Given the description of an element on the screen output the (x, y) to click on. 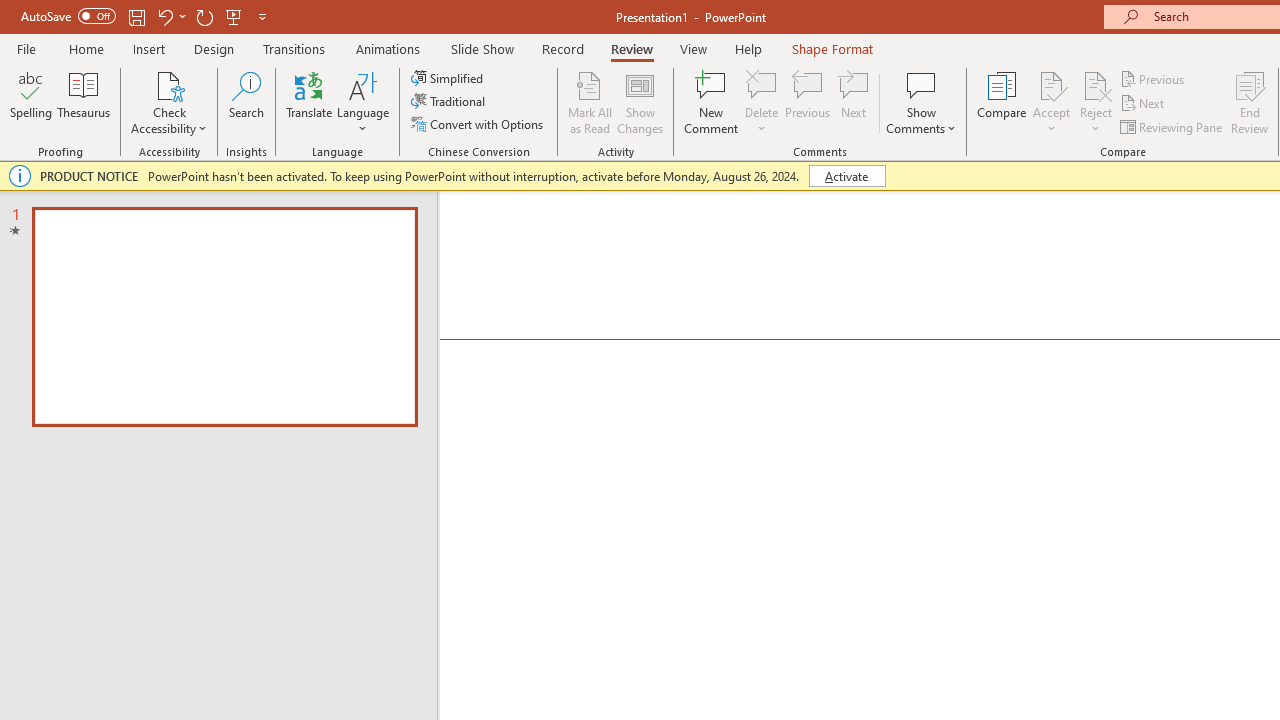
Next (1144, 103)
Reject (1096, 102)
Translate (309, 102)
Language (363, 102)
Activate (846, 175)
Spelling... (31, 102)
